Given the description of an element on the screen output the (x, y) to click on. 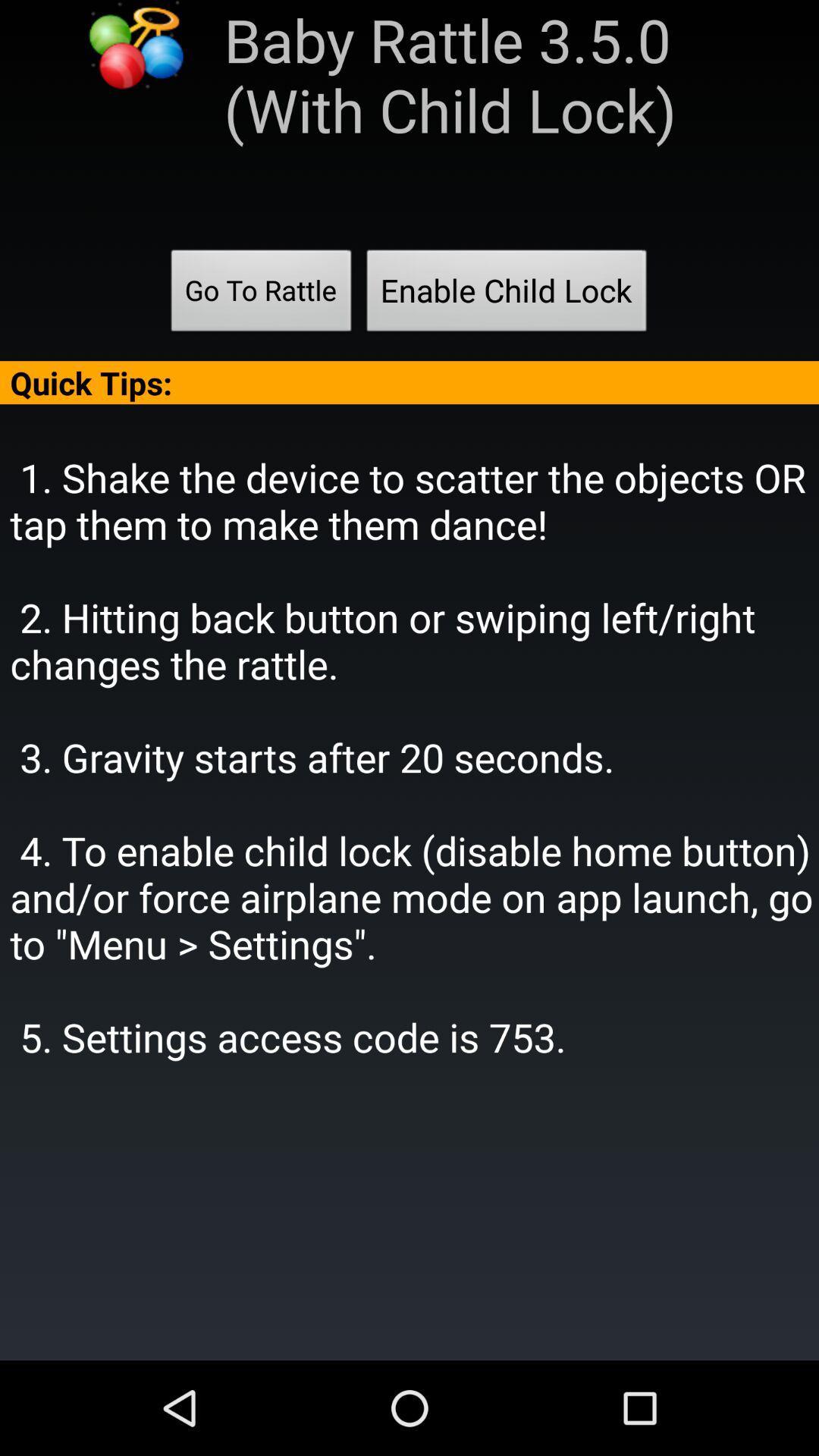
tap the go to rattle (261, 294)
